Given the description of an element on the screen output the (x, y) to click on. 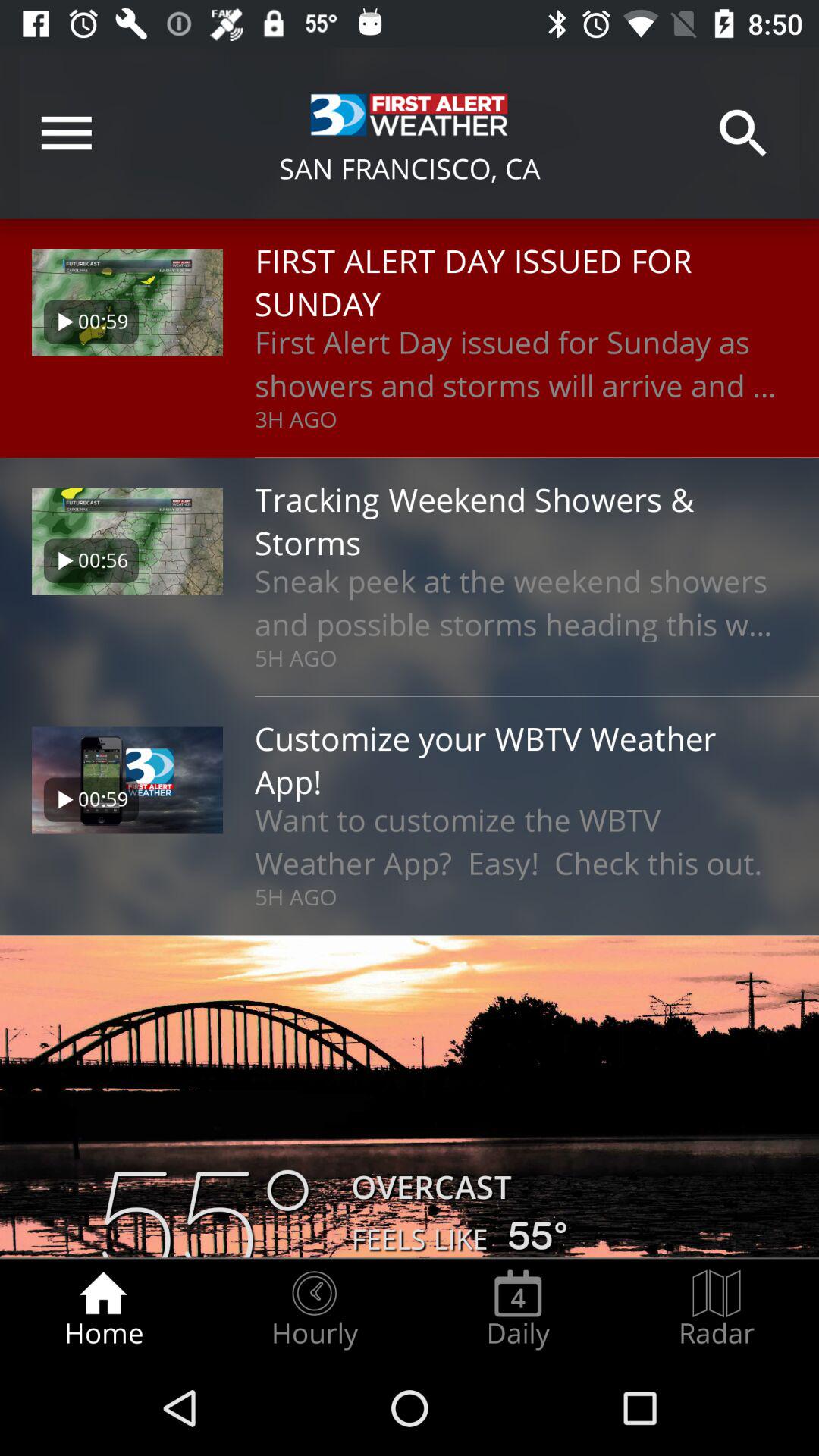
click the item next to the hourly (518, 1309)
